Given the description of an element on the screen output the (x, y) to click on. 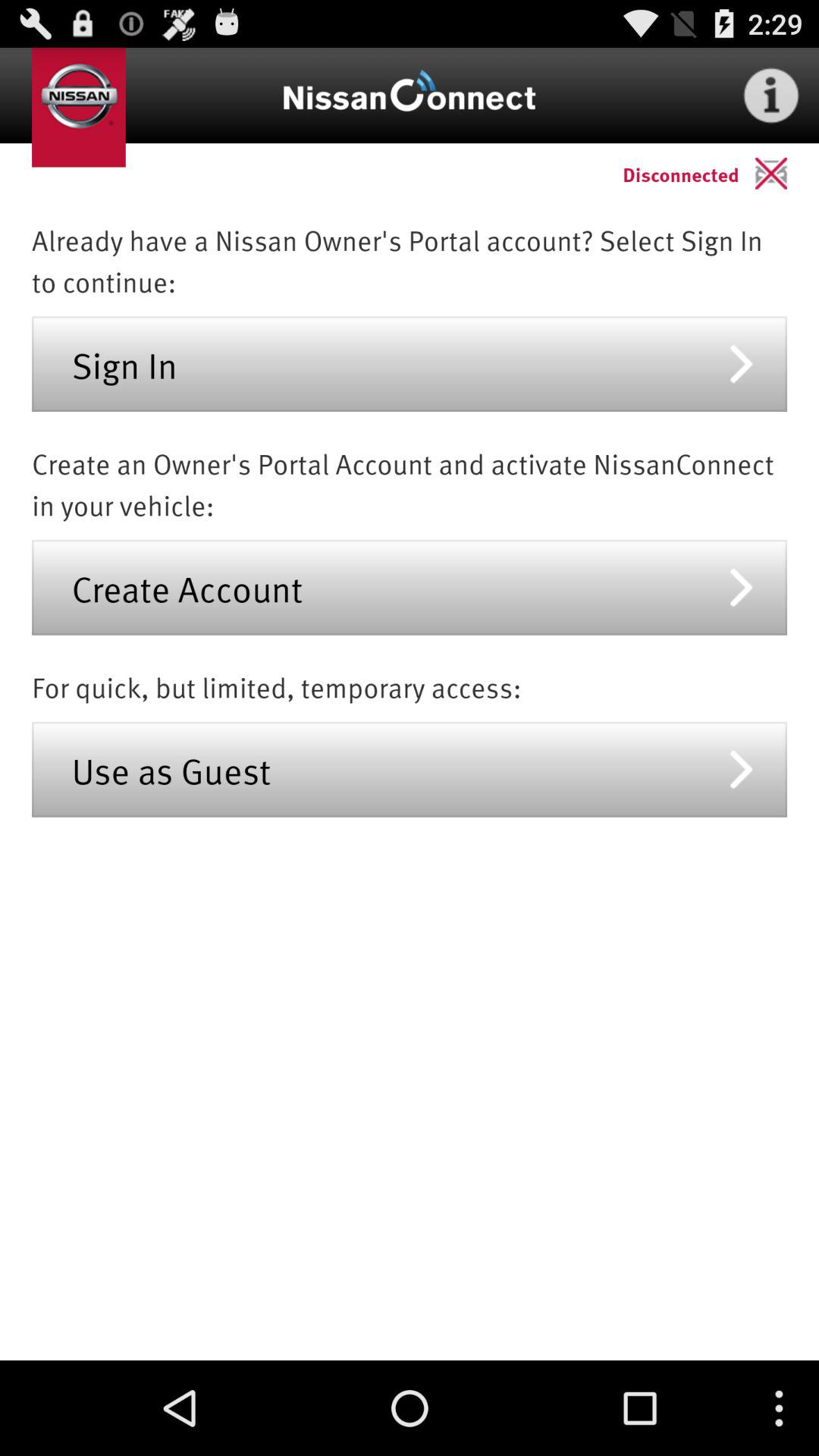
click on information icon (771, 95)
click second option in the page (409, 587)
click on nissan connect (409, 95)
